Given the description of an element on the screen output the (x, y) to click on. 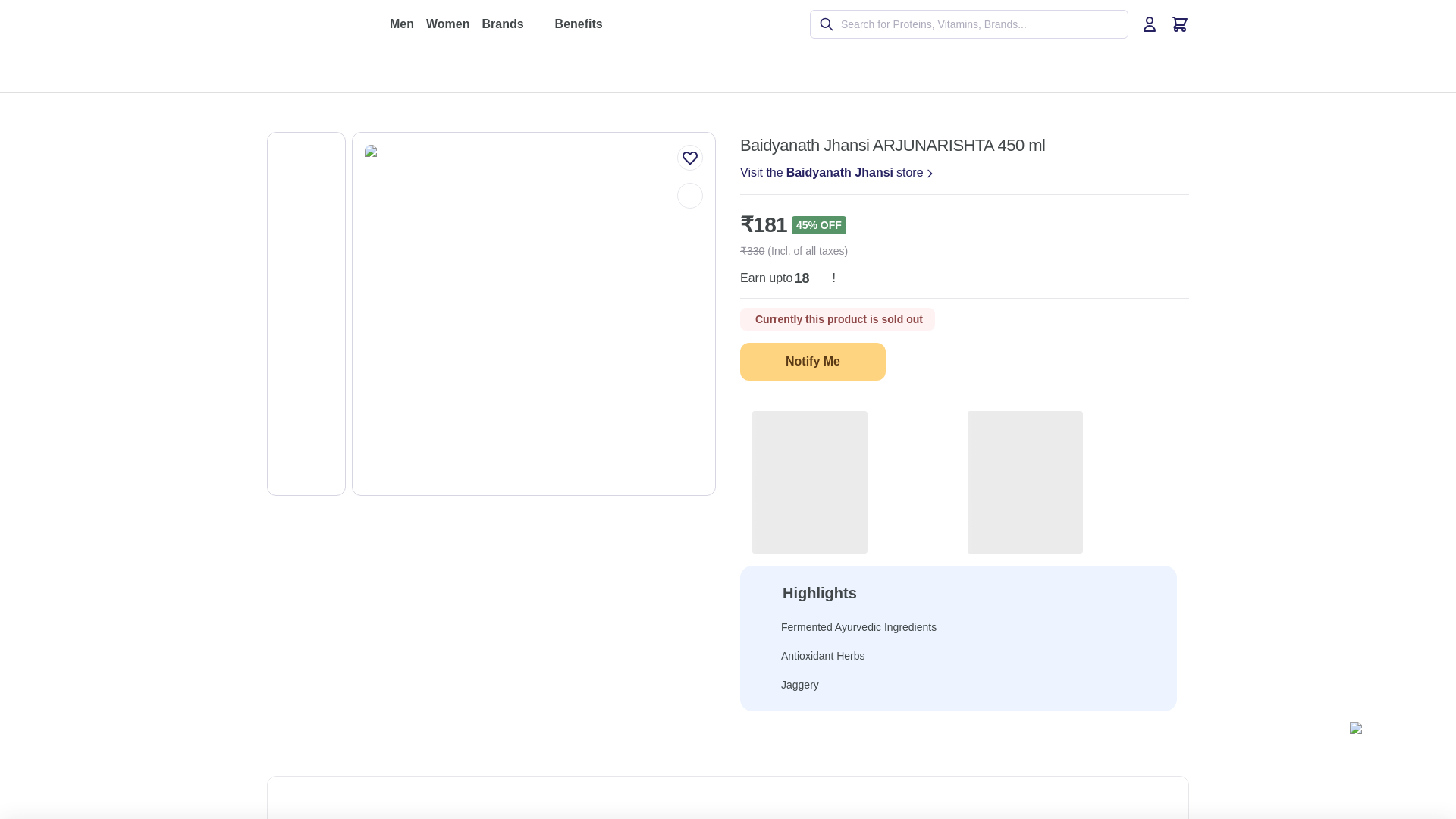
Brands (511, 24)
Benefits (587, 24)
Men (401, 24)
Women (837, 172)
Notify Me (447, 24)
